Given the description of an element on the screen output the (x, y) to click on. 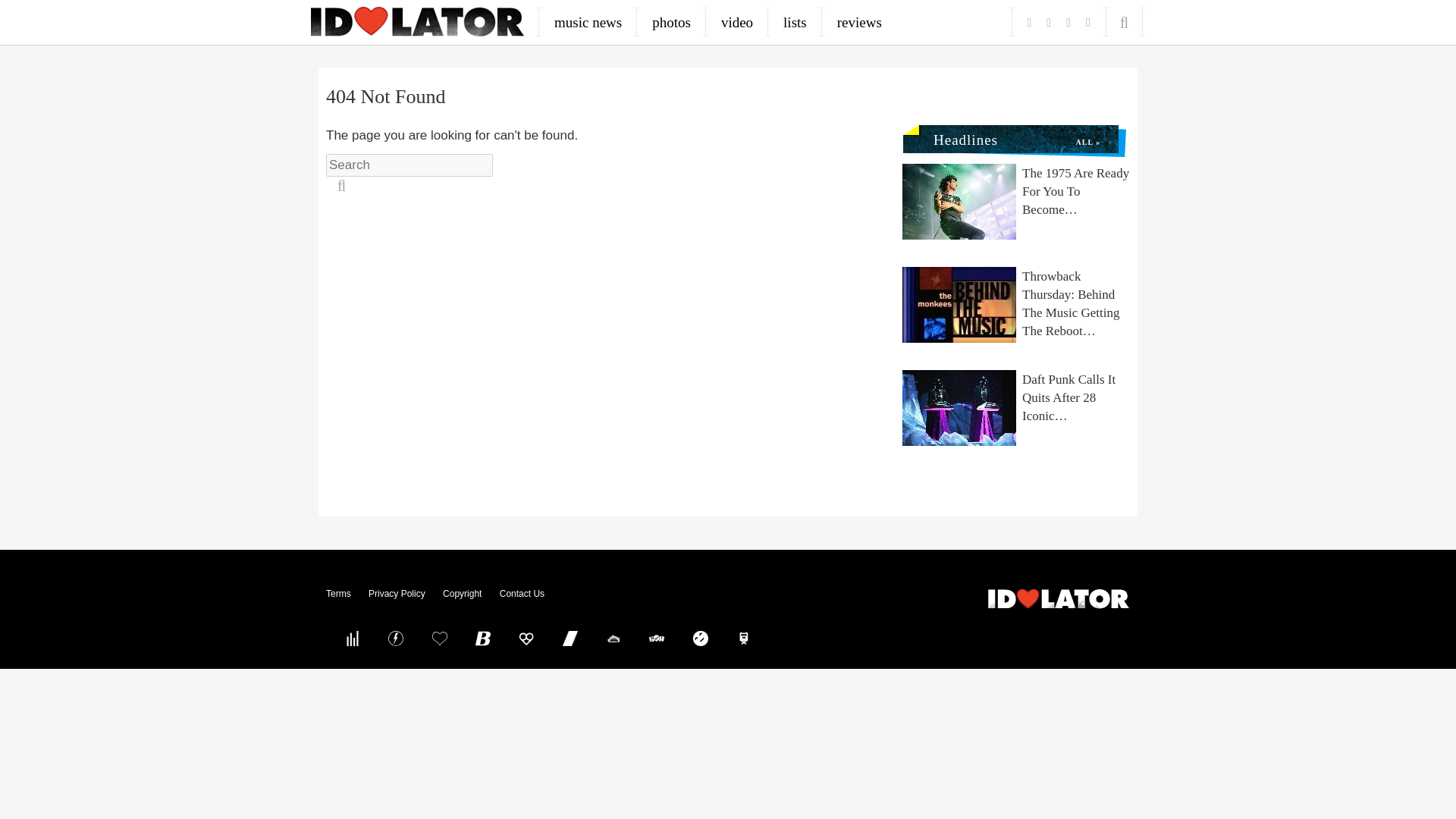
Trend Chaser (570, 638)
Pure Volume (351, 638)
Privacy Policy (396, 593)
video (737, 22)
BleacherBreaker (483, 638)
lists (795, 22)
music news (587, 22)
Headlines (958, 136)
Post Fun (439, 638)
photos (671, 22)
Daily Funny (699, 638)
Buzznet (395, 638)
Quizscape (656, 638)
Terms (338, 593)
Copyright (461, 593)
